Given the description of an element on the screen output the (x, y) to click on. 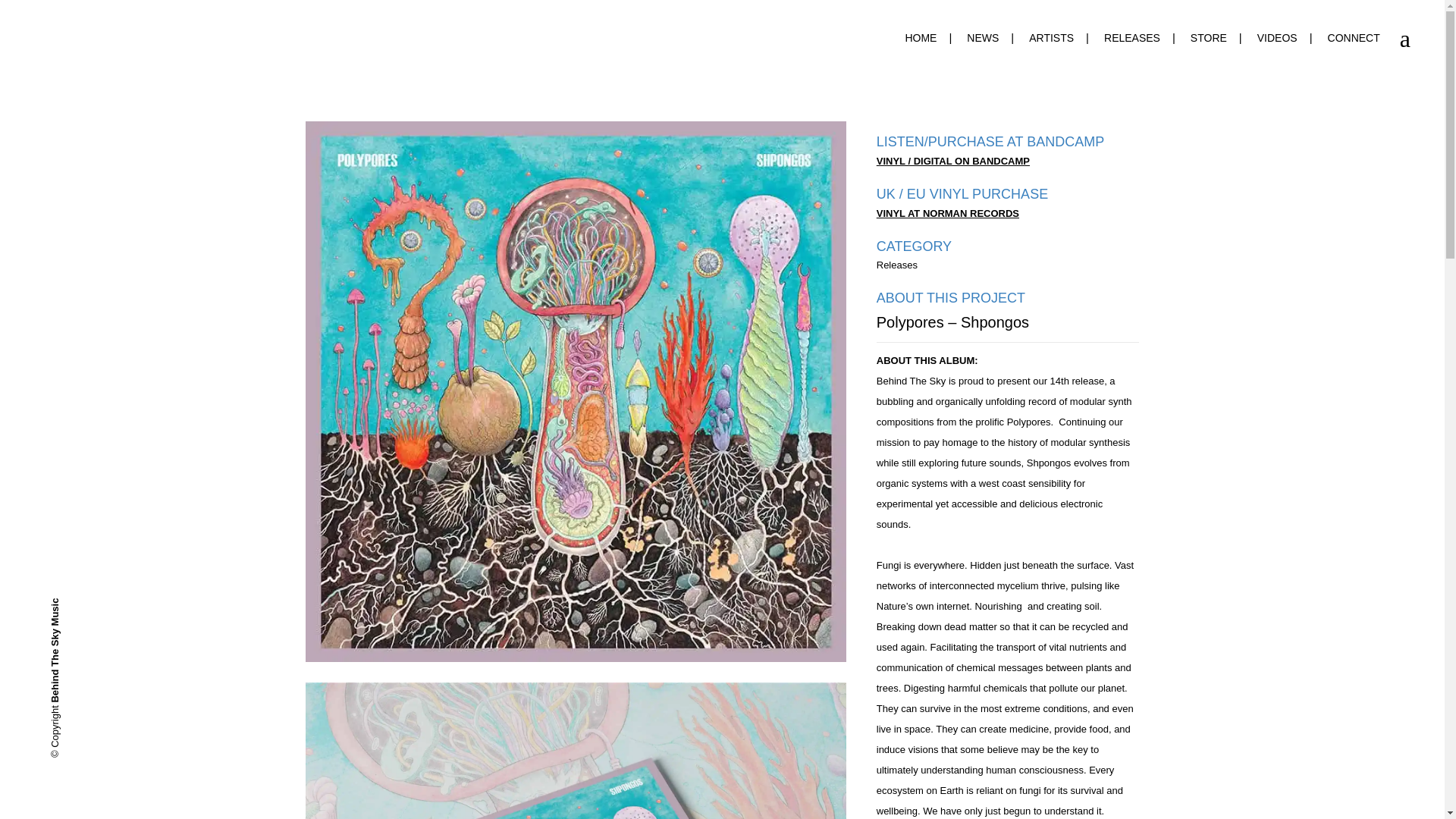
Behind The Sky Music (101, 603)
VIDEOS (1277, 38)
VINYL AT NORMAN RECORDS (947, 213)
RELEASES (1131, 38)
CONNECT (1353, 38)
ARTISTS (1050, 38)
